Given the description of an element on the screen output the (x, y) to click on. 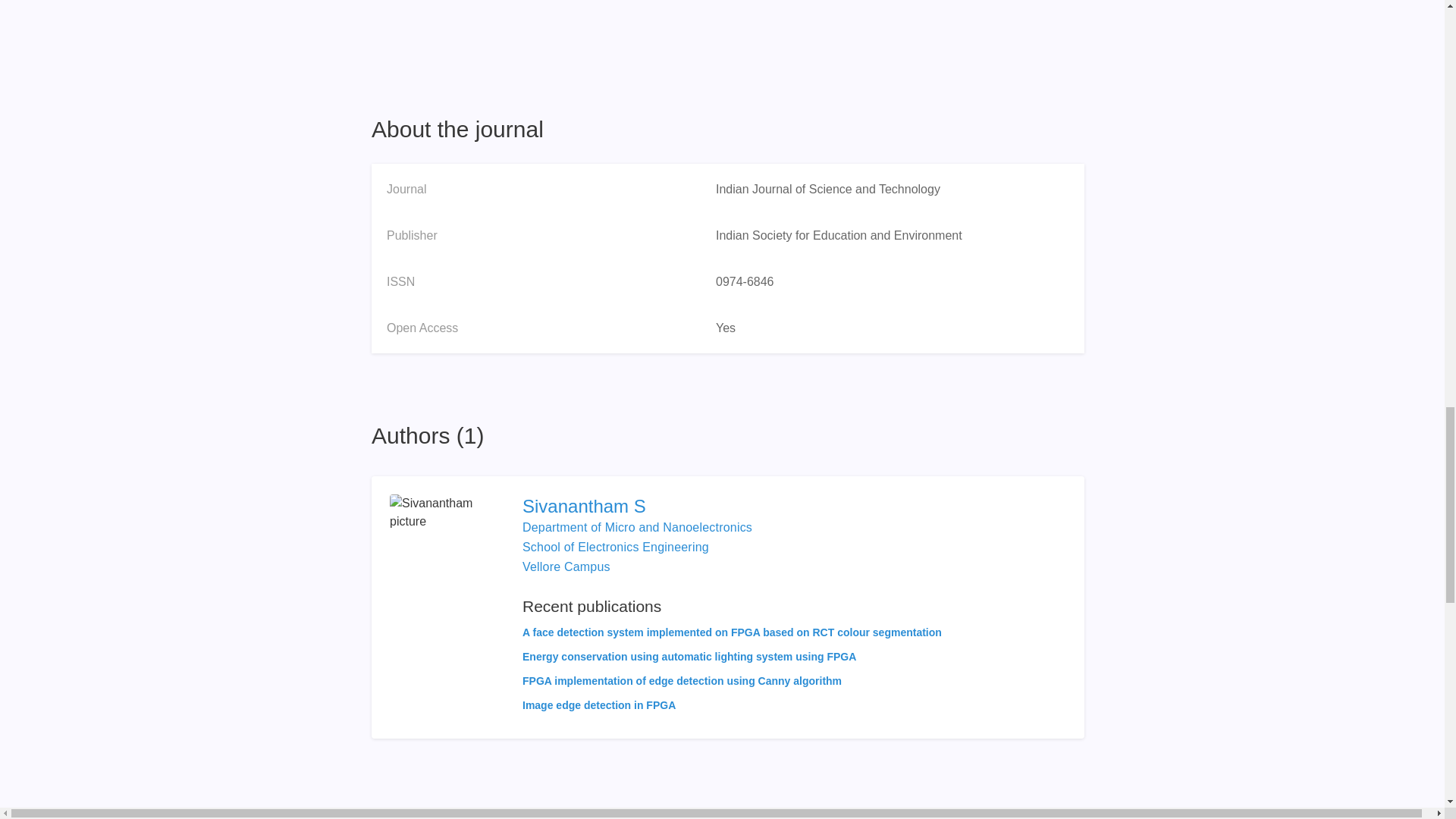
FPGA implementation of edge detection using Canny algorithm (681, 680)
Department of Micro and Nanoelectronics (637, 526)
Image edge detection in FPGA (598, 705)
School of Electronics Engineering (615, 546)
Sivanantham S (732, 506)
Vellore Campus (566, 566)
